Given the description of an element on the screen output the (x, y) to click on. 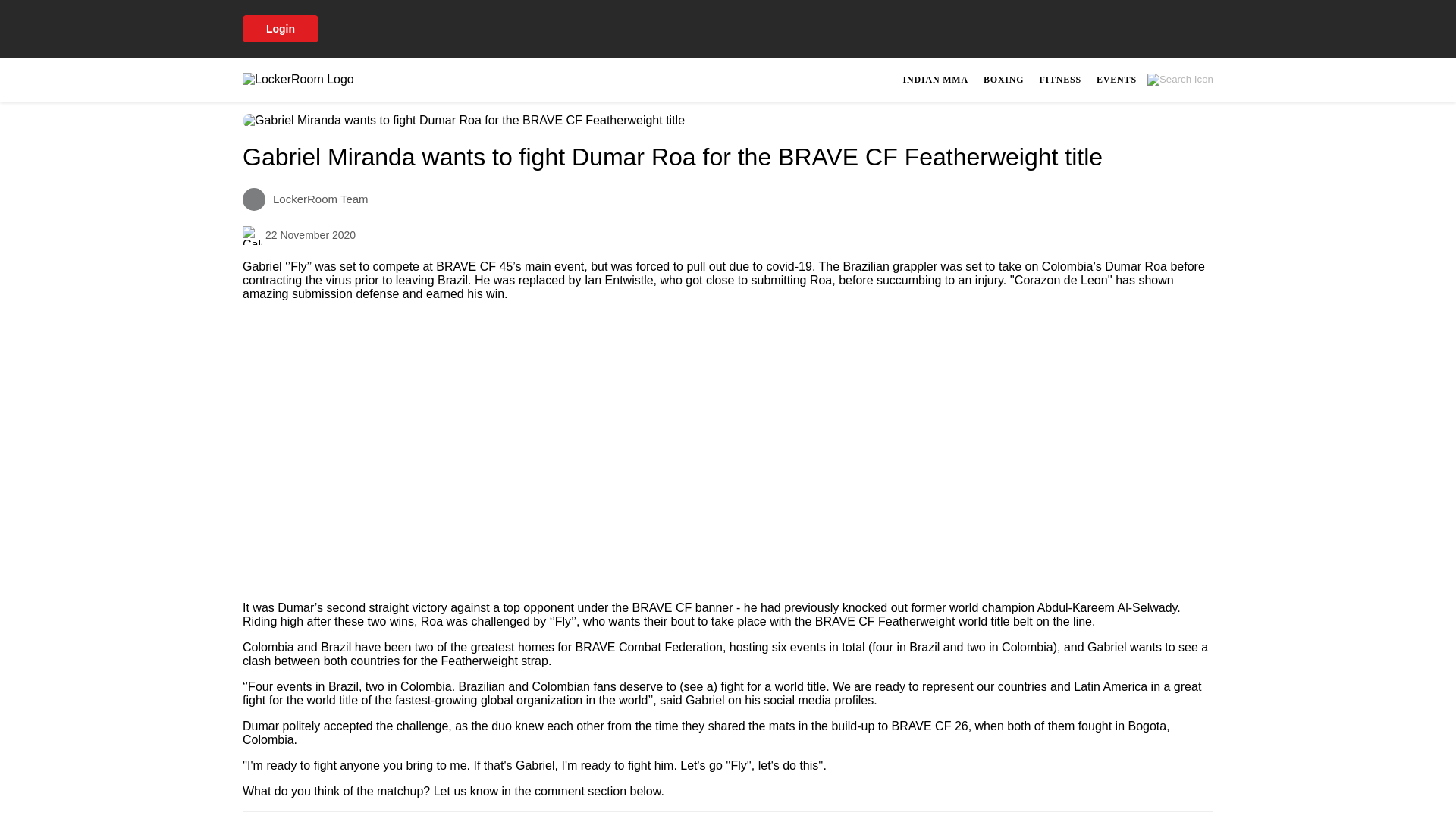
EVENTS (1116, 78)
INDIAN MMA (1055, 78)
FITNESS (935, 78)
BOXING (1059, 78)
